Given the description of an element on the screen output the (x, y) to click on. 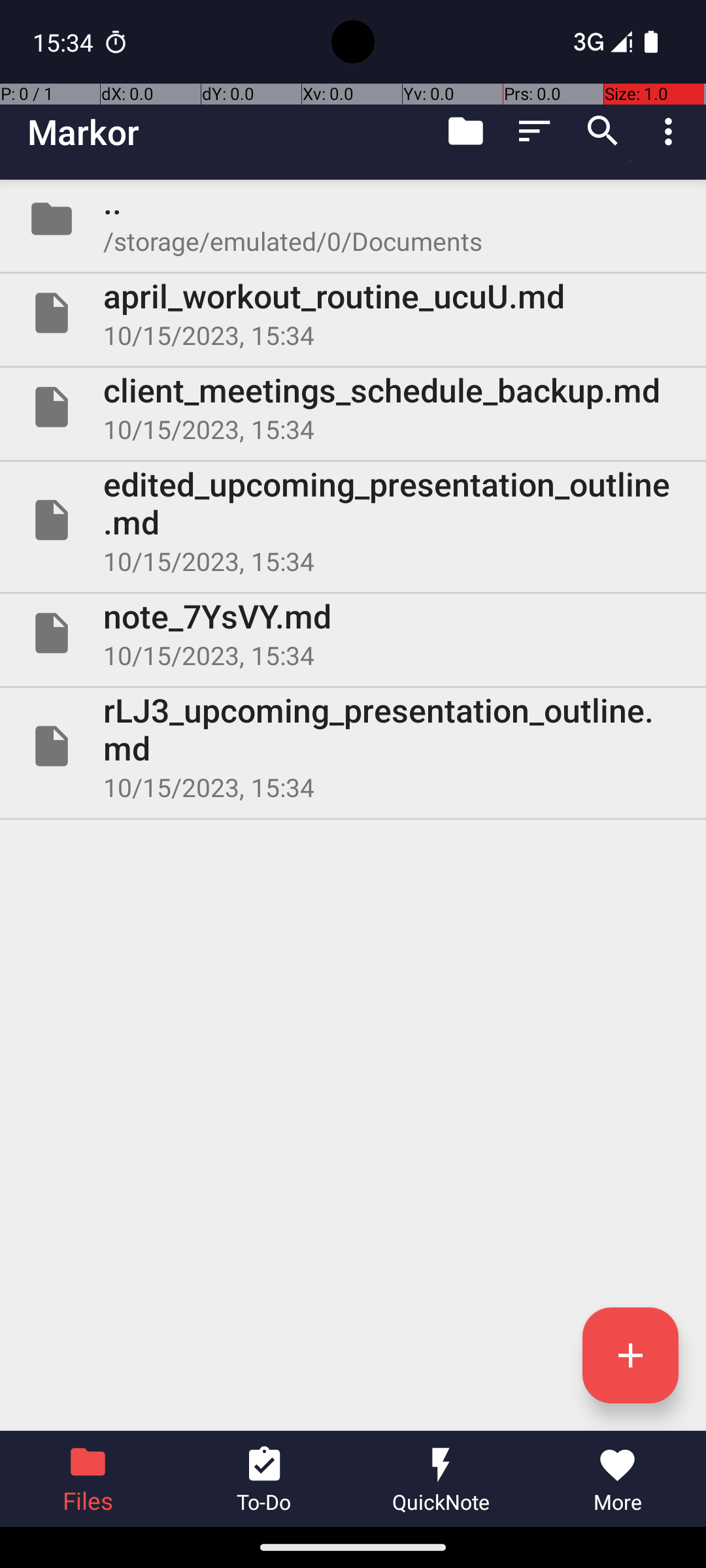
File april_workout_routine_ucuU.md  Element type: android.widget.LinearLayout (353, 312)
File client_meetings_schedule_backup.md  Element type: android.widget.LinearLayout (353, 406)
File edited_upcoming_presentation_outline.md  Element type: android.widget.LinearLayout (353, 519)
File note_7YsVY.md  Element type: android.widget.LinearLayout (353, 632)
File rLJ3_upcoming_presentation_outline.md  Element type: android.widget.LinearLayout (353, 745)
